Given the description of an element on the screen output the (x, y) to click on. 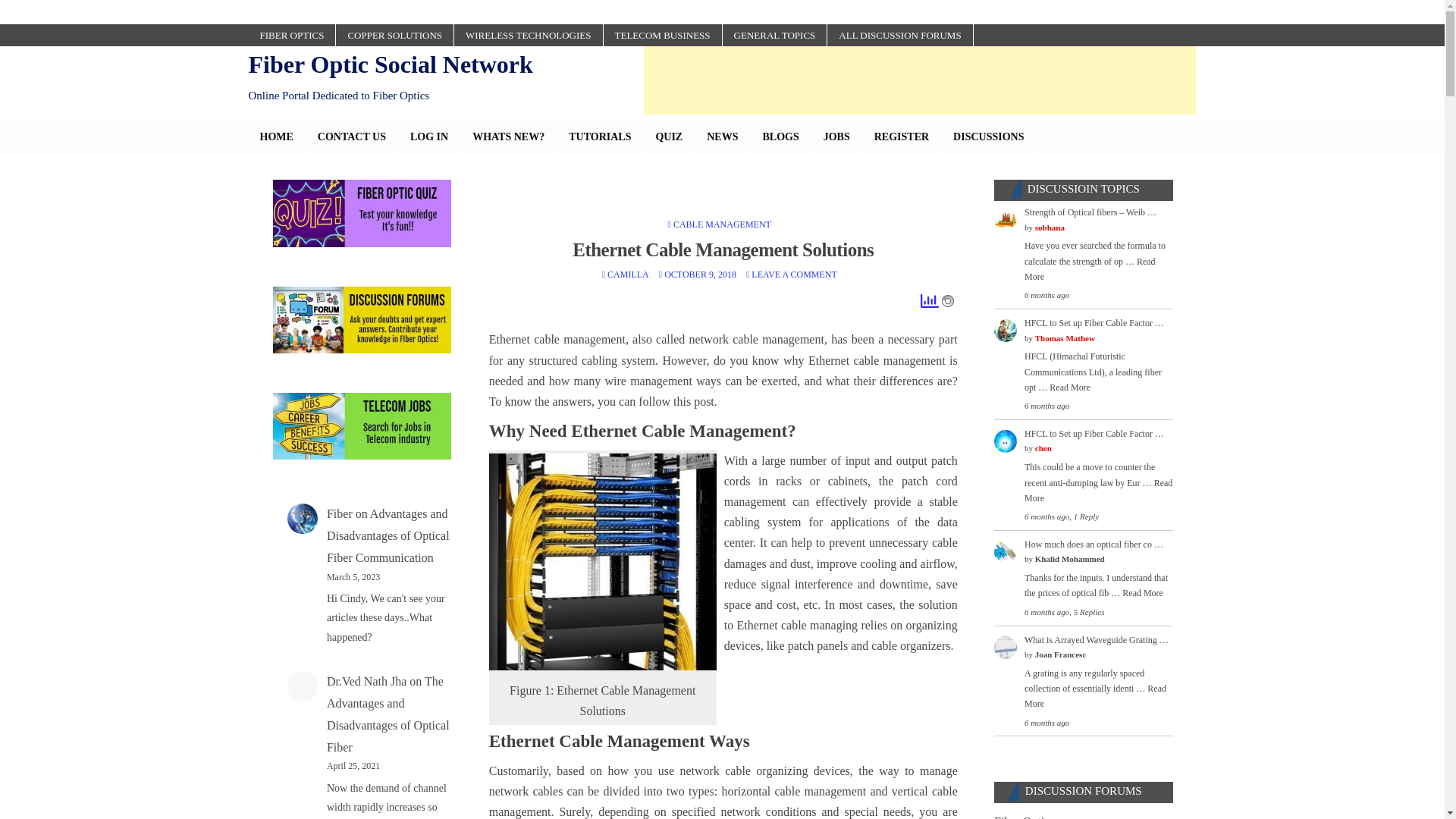
WIRELESS TECHNOLOGIES (529, 34)
JOBS (835, 136)
Ethernet Cable Management Solutions 1 (947, 300)
COPPER SOLUTIONS (395, 34)
ALL DISCUSSION FORUMS (899, 34)
HOME (276, 136)
FIBER OPTICS (292, 34)
QUIZ (668, 136)
TELECOM BUSINESS (663, 34)
GENERAL TOPICS (775, 34)
